Given the description of an element on the screen output the (x, y) to click on. 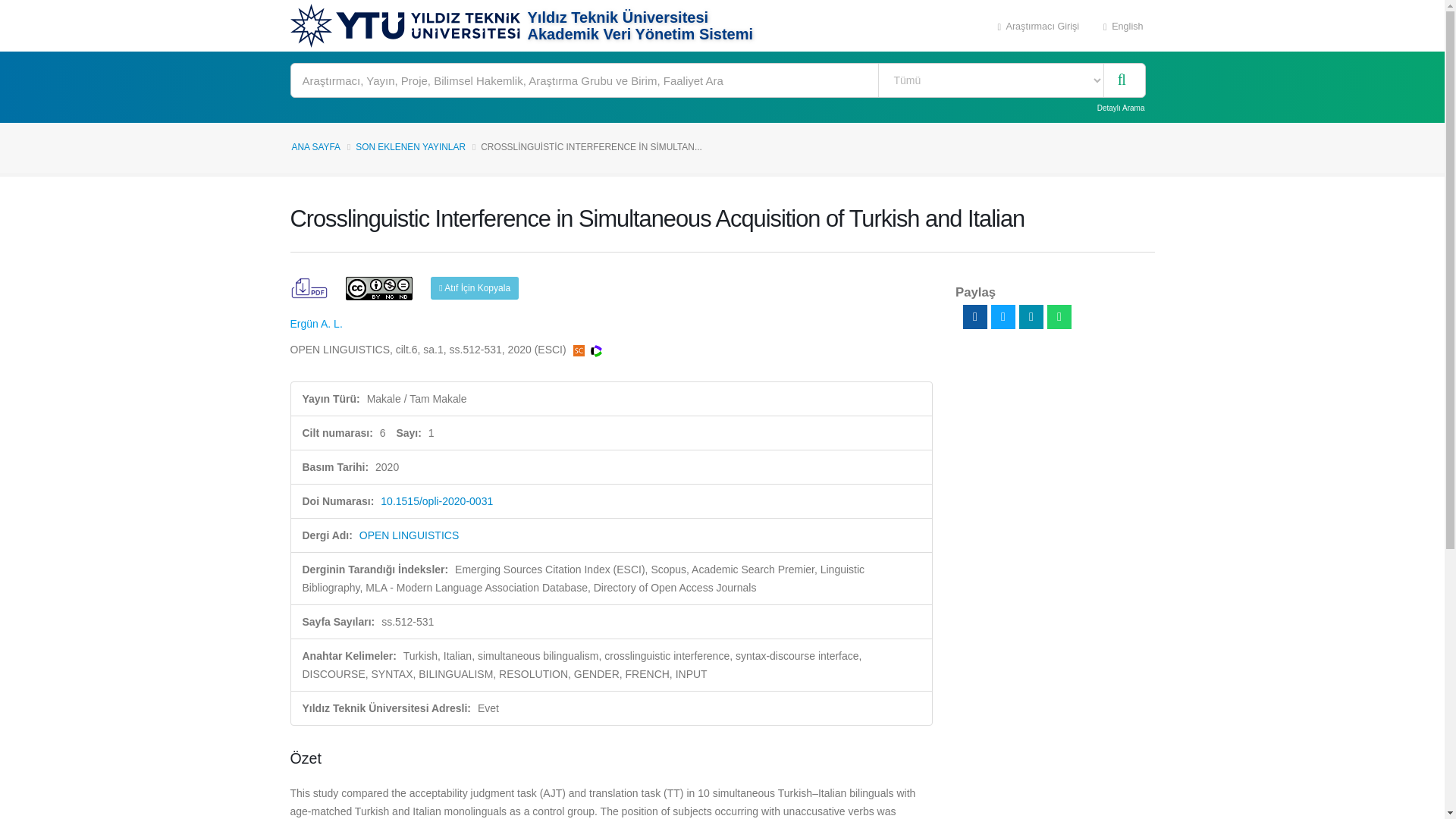
OPEN LINGUISTICS (408, 535)
SON EKLENEN YAYINLAR (410, 146)
ANA SAYFA (315, 146)
English (1123, 26)
